Given the description of an element on the screen output the (x, y) to click on. 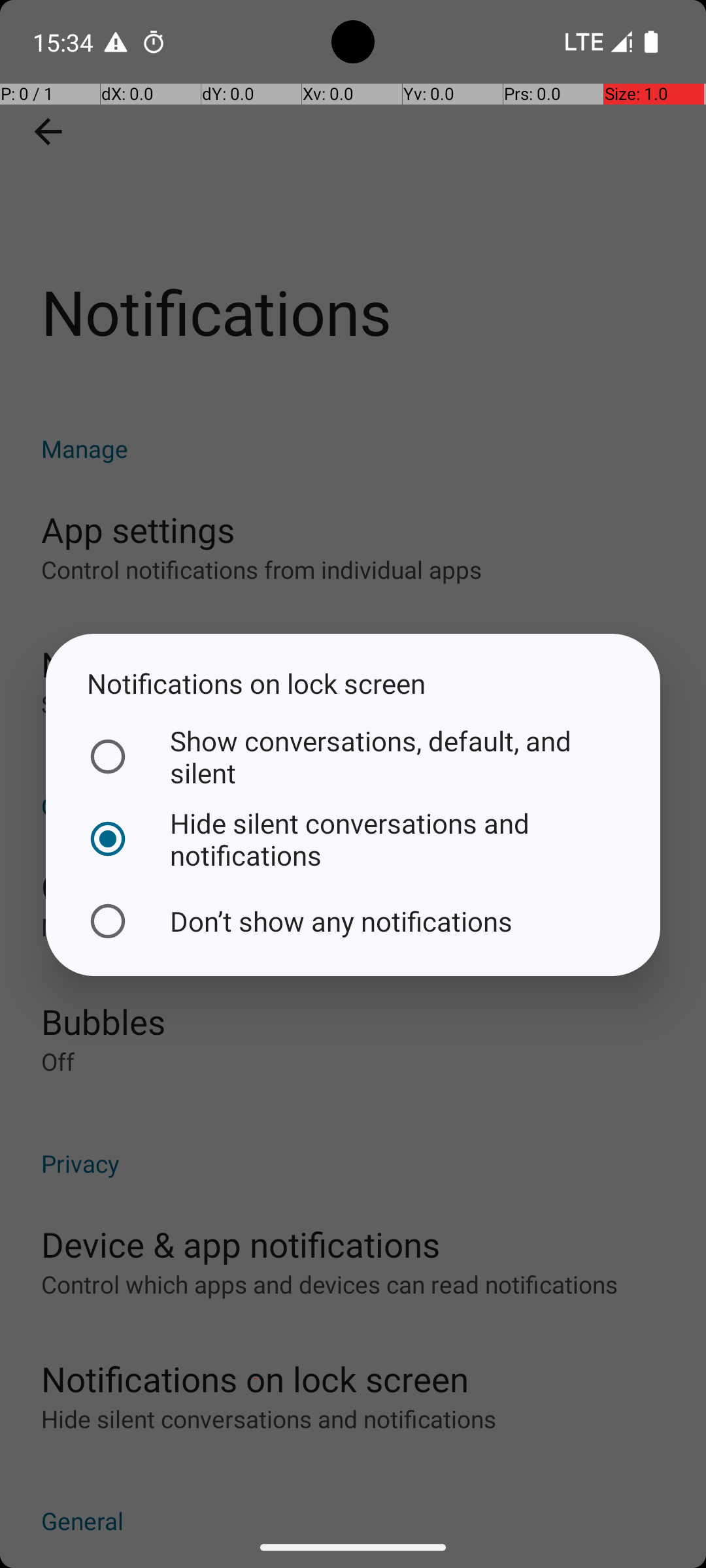
Notifications on lock screen Element type: android.widget.TextView (352, 682)
Show conversations, default, and silent Element type: android.widget.CheckedTextView (349, 756)
Hide silent conversations and notifications Element type: android.widget.CheckedTextView (349, 838)
Don’t show any notifications Element type: android.widget.CheckedTextView (349, 920)
